Given the description of an element on the screen output the (x, y) to click on. 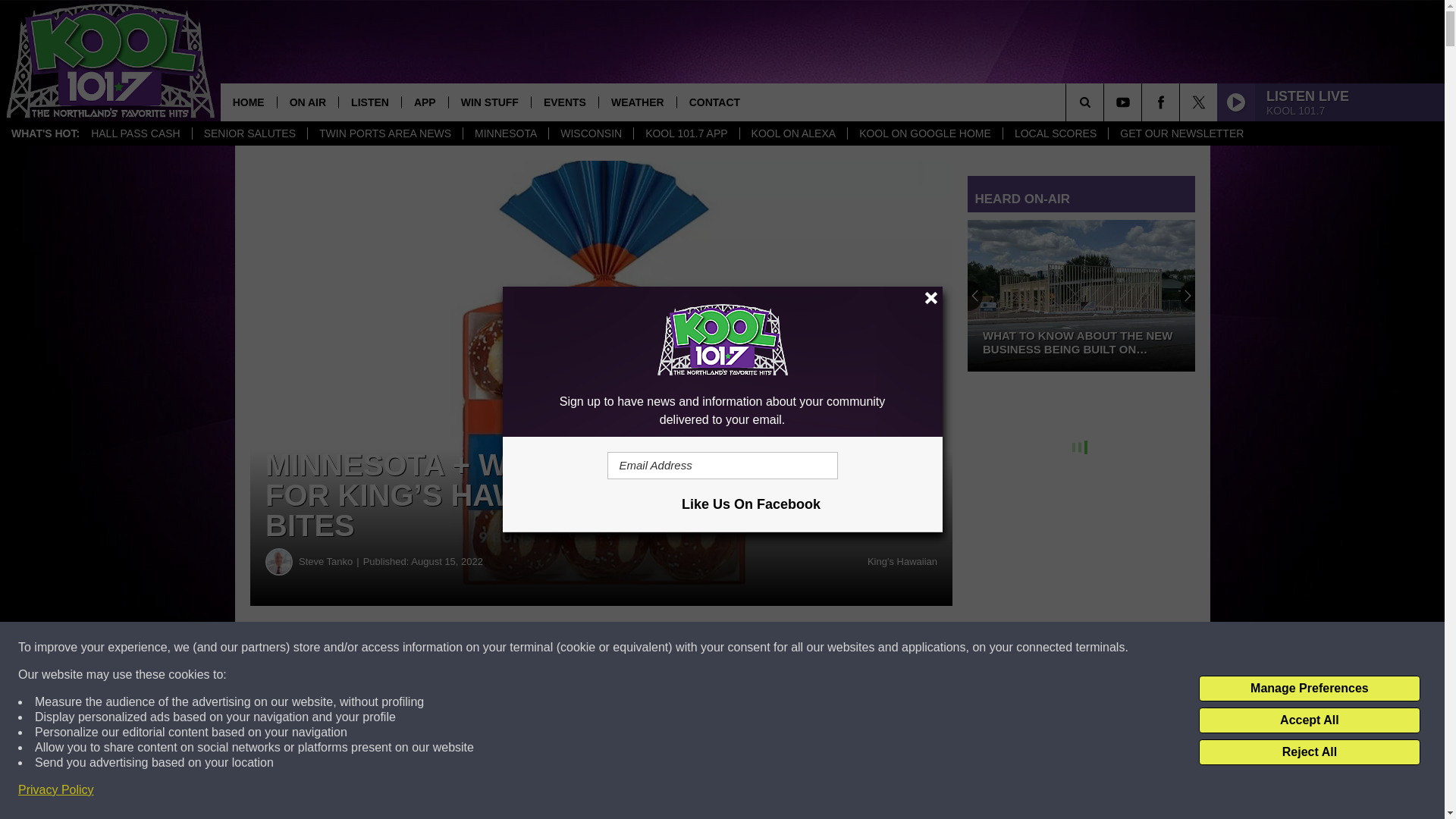
LISTEN (369, 102)
HOME (248, 102)
MINNESOTA (505, 133)
SEARCH (1106, 102)
Accept All (1309, 720)
GET OUR NEWSLETTER (1181, 133)
Share on Facebook (460, 647)
APP (424, 102)
Privacy Policy (55, 789)
Email Address (722, 465)
WIN STUFF (489, 102)
SENIOR SALUTES (249, 133)
KOOL ON GOOGLE HOME (925, 133)
KOOL ON ALEXA (793, 133)
WISCONSIN (590, 133)
